Given the description of an element on the screen output the (x, y) to click on. 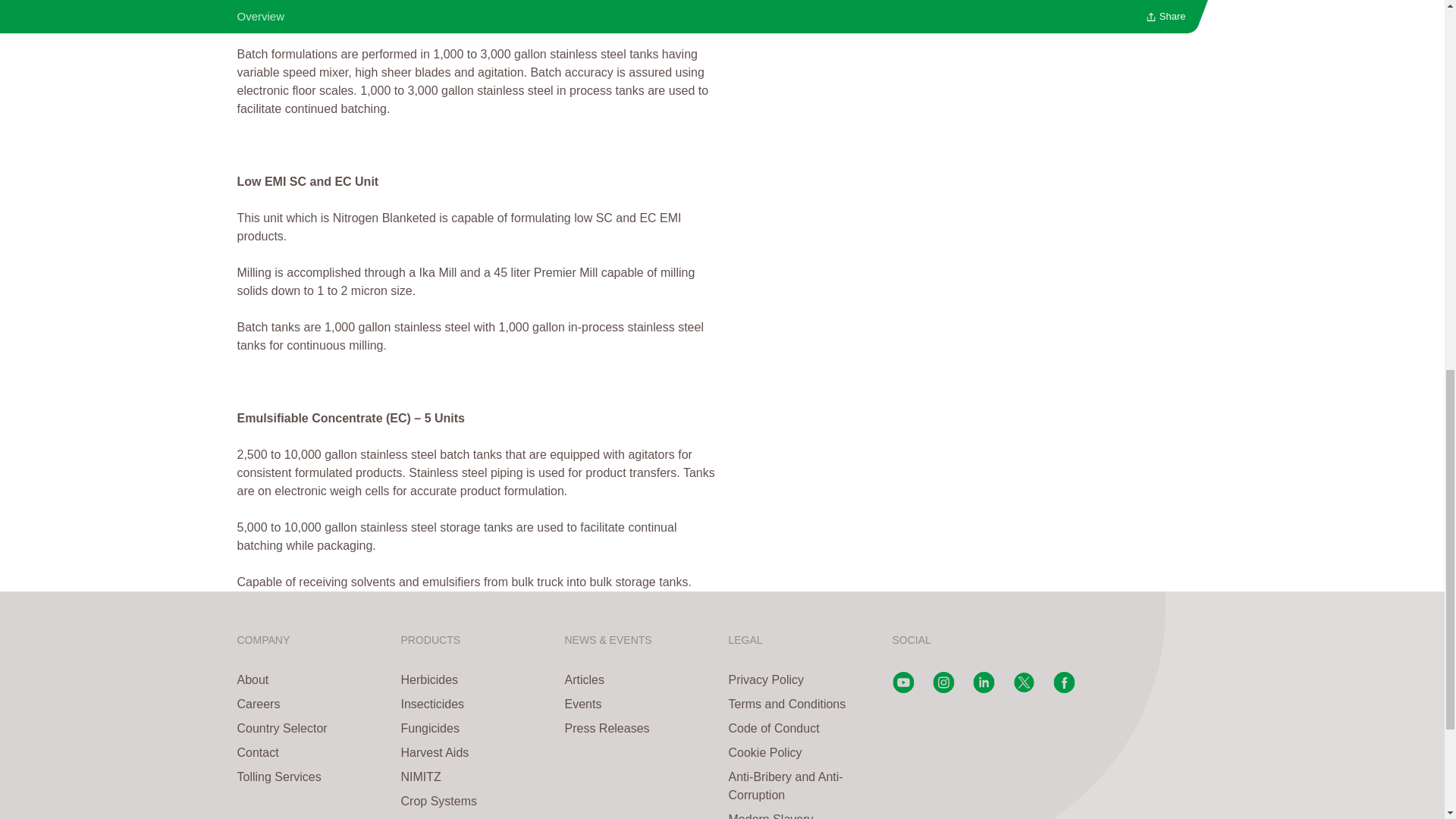
Instagram (944, 688)
Facebook (1063, 688)
Twitter (1024, 688)
Youtube Channel (902, 688)
LinkedIn (983, 688)
